Given the description of an element on the screen output the (x, y) to click on. 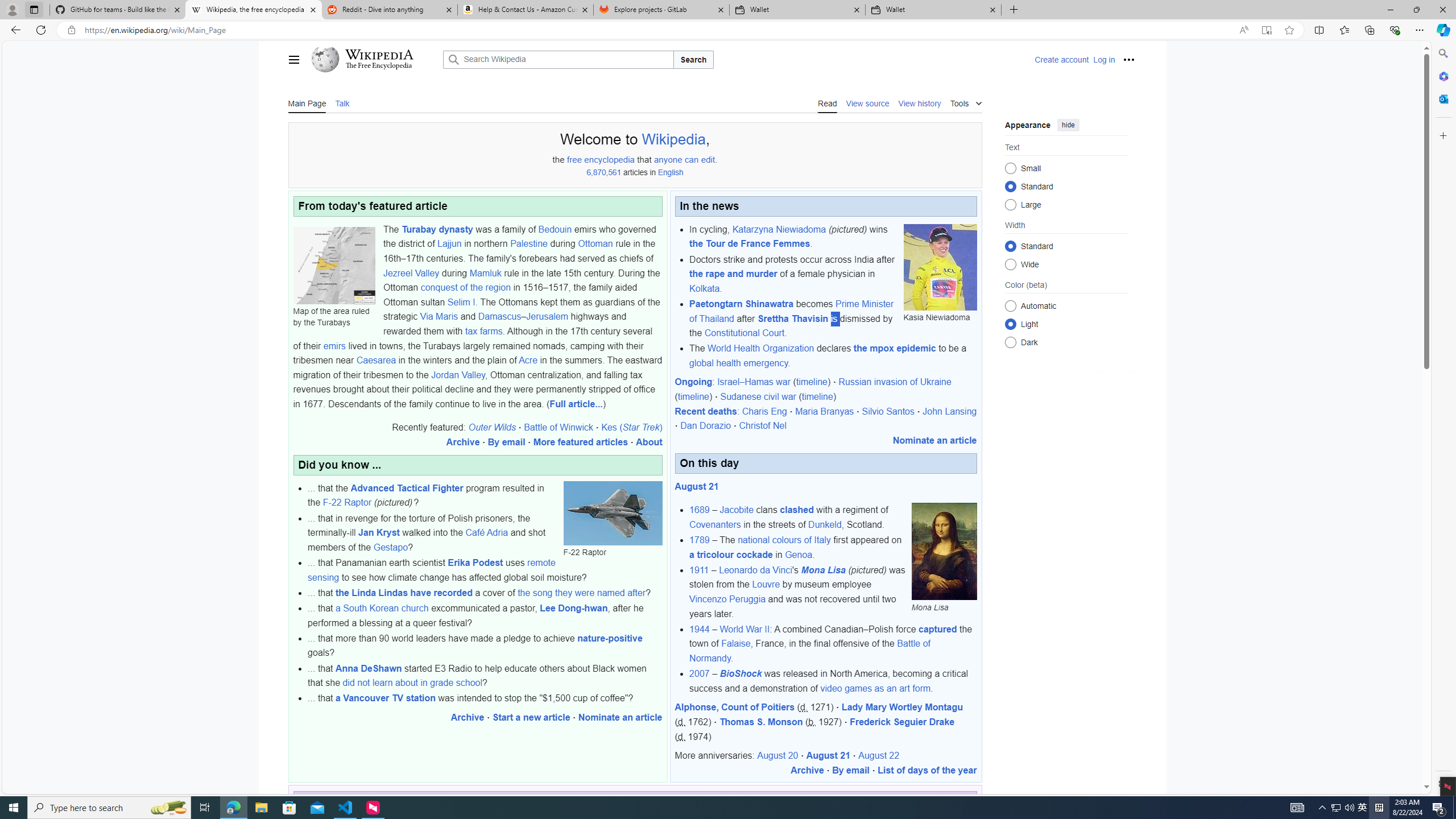
anyone can edit (683, 159)
August 22 (878, 755)
View source (867, 102)
Wikipedia (379, 54)
Christof Nel (762, 425)
Lajjun (448, 243)
the Tour de France Femmes (749, 243)
Paetongtarn Shinawatra (740, 303)
Kasia Niewiadoma (939, 266)
Caesarea (376, 360)
Reddit - Dive into anything (390, 9)
Louvre (765, 584)
